Given the description of an element on the screen output the (x, y) to click on. 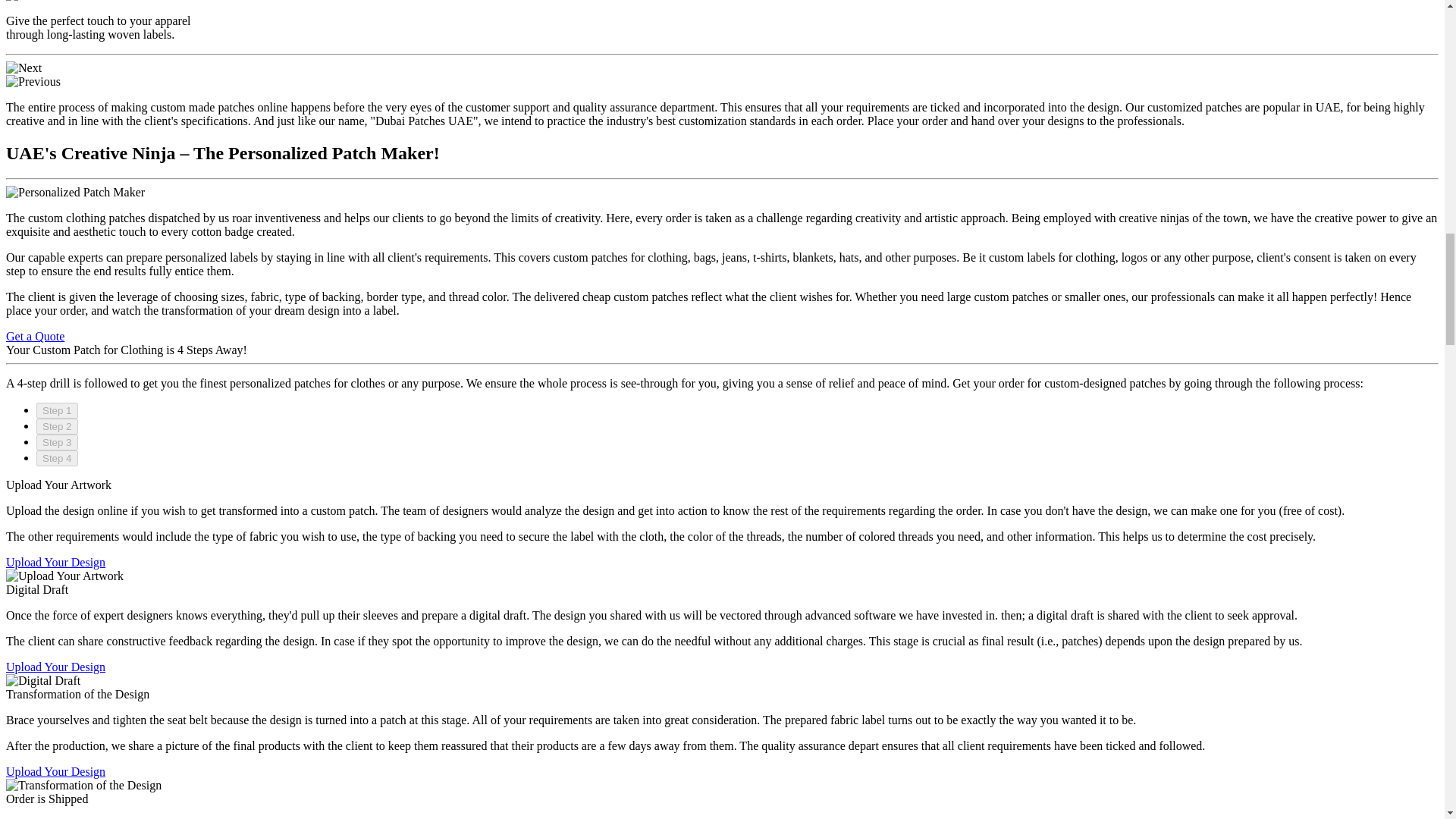
Upload Your Design (54, 771)
Step 3 (57, 442)
Transformation of the Design (83, 785)
Woven Labels (46, 1)
Step 1 (57, 410)
Previous (33, 81)
Upload Your Design (54, 562)
Upload Your Design (54, 666)
Personalized Patch Maker (74, 192)
Step 4 (57, 458)
Upload Your Artwork (64, 576)
Get a Quote (34, 336)
Digital Draft (42, 680)
Step 2 (57, 426)
Next (23, 68)
